Given the description of an element on the screen output the (x, y) to click on. 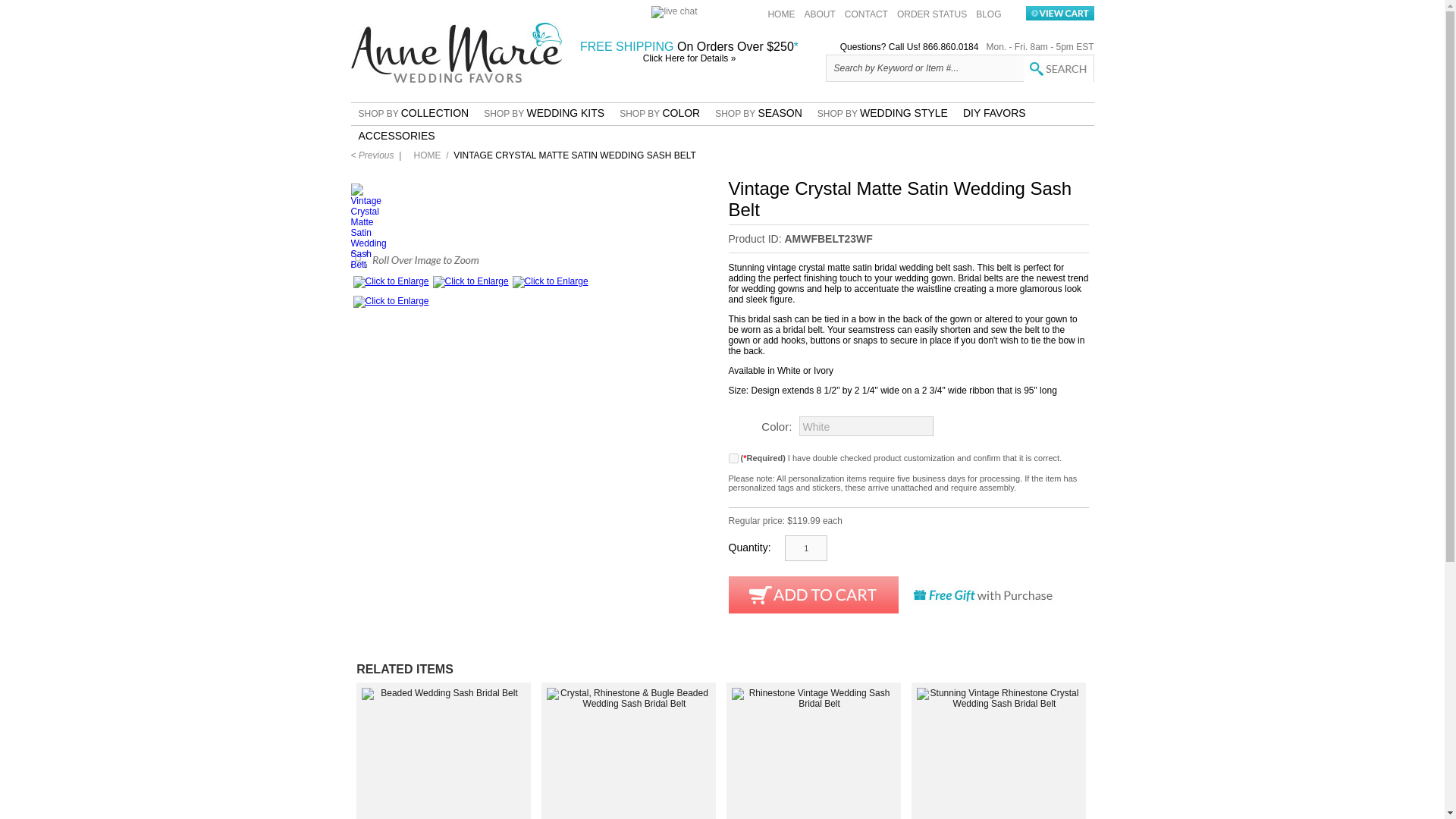
on (733, 458)
ORDER STATUS (931, 14)
ABOUT (818, 14)
CONTACT (866, 14)
1 (805, 548)
SHOP BY WEDDING KITS (543, 114)
HOME (780, 14)
submit (1058, 68)
BLOG (988, 14)
SHOP BY COLLECTION (413, 114)
SHOP BY COLOR (659, 114)
